Given the description of an element on the screen output the (x, y) to click on. 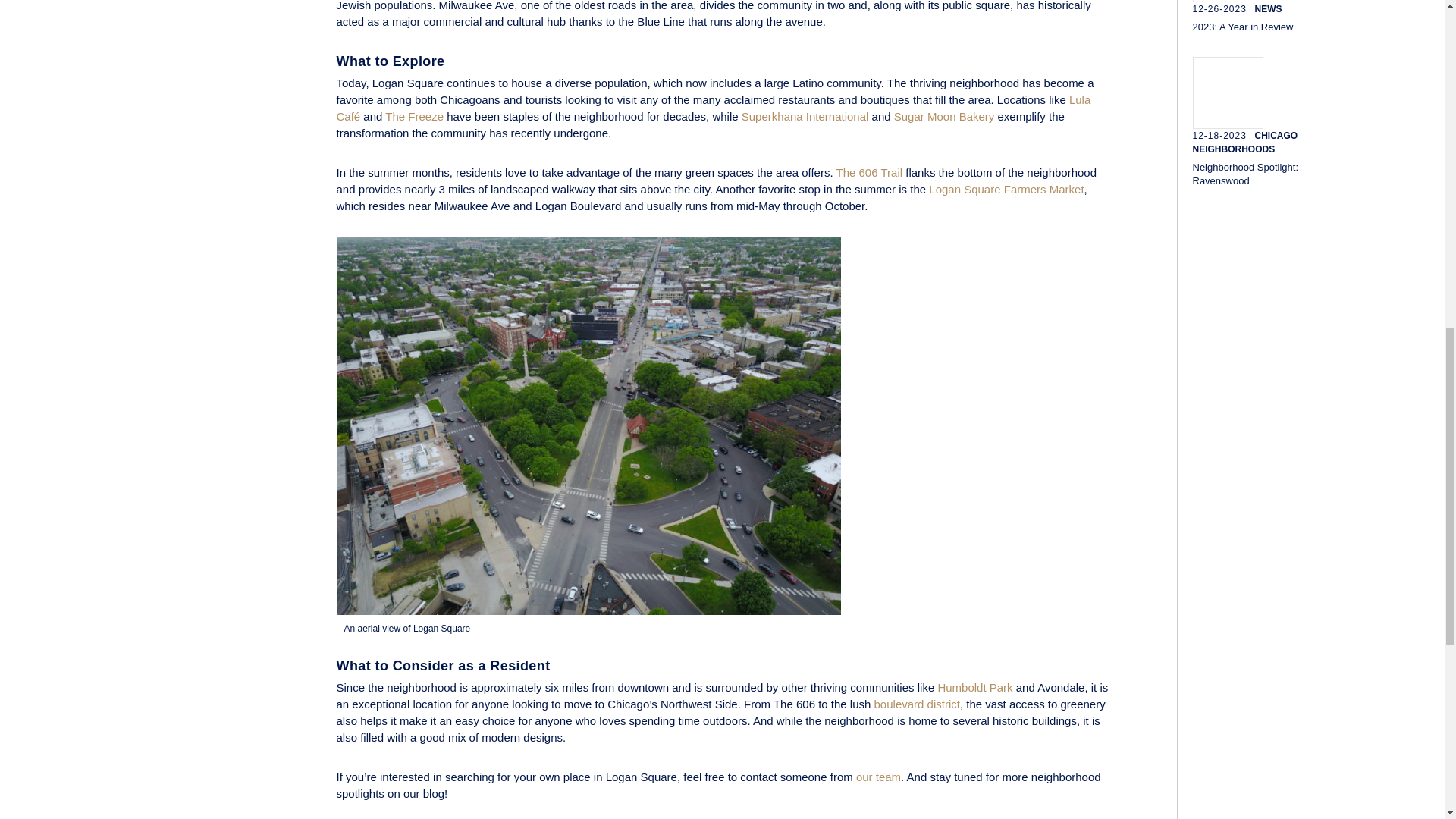
Superkhana International (805, 115)
our team (878, 776)
Humboldt Park (974, 686)
The Freeze (414, 115)
Sugar Moon Bakery (943, 115)
The 606 Trail (868, 172)
Logan Square Farmers Market (1005, 188)
boulevard district (917, 703)
